Given the description of an element on the screen output the (x, y) to click on. 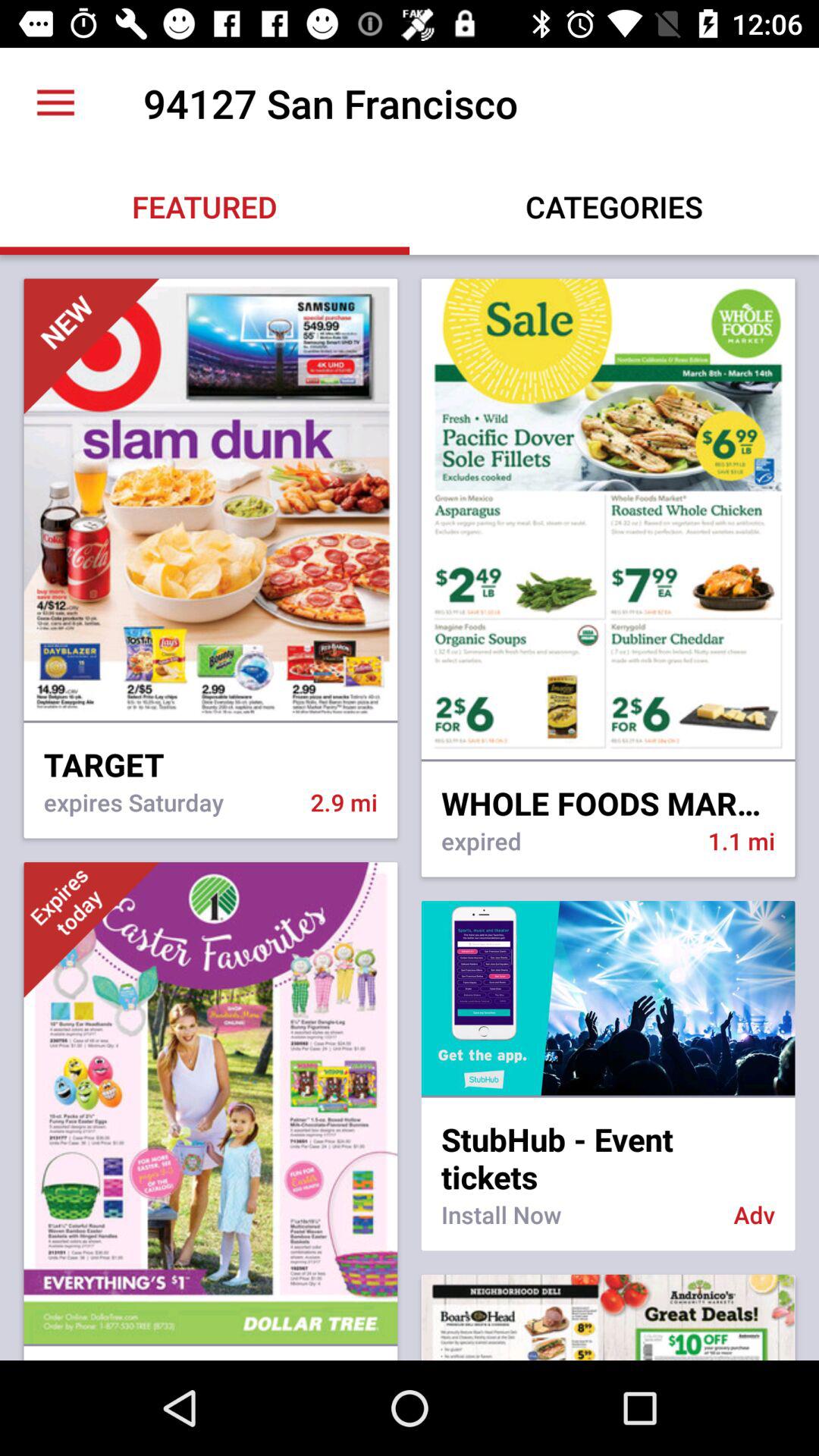
press item next to the adv icon (577, 1224)
